Given the description of an element on the screen output the (x, y) to click on. 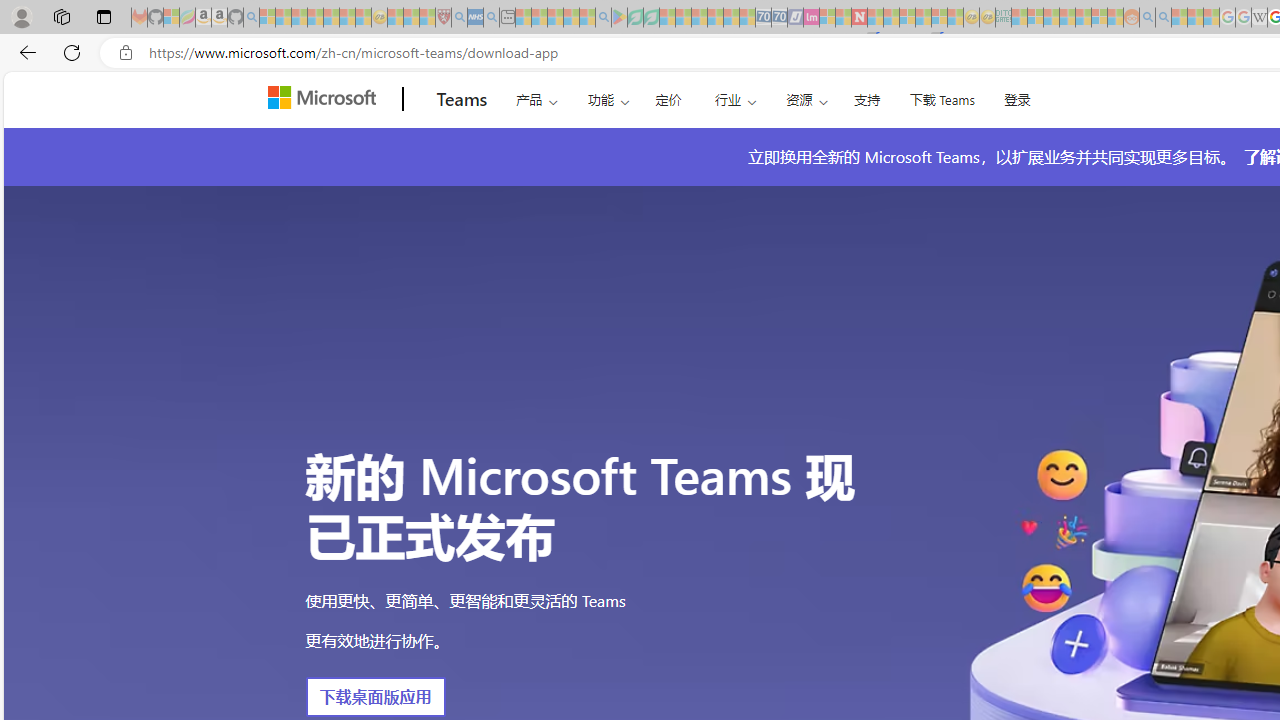
Teams (461, 99)
